Given the description of an element on the screen output the (x, y) to click on. 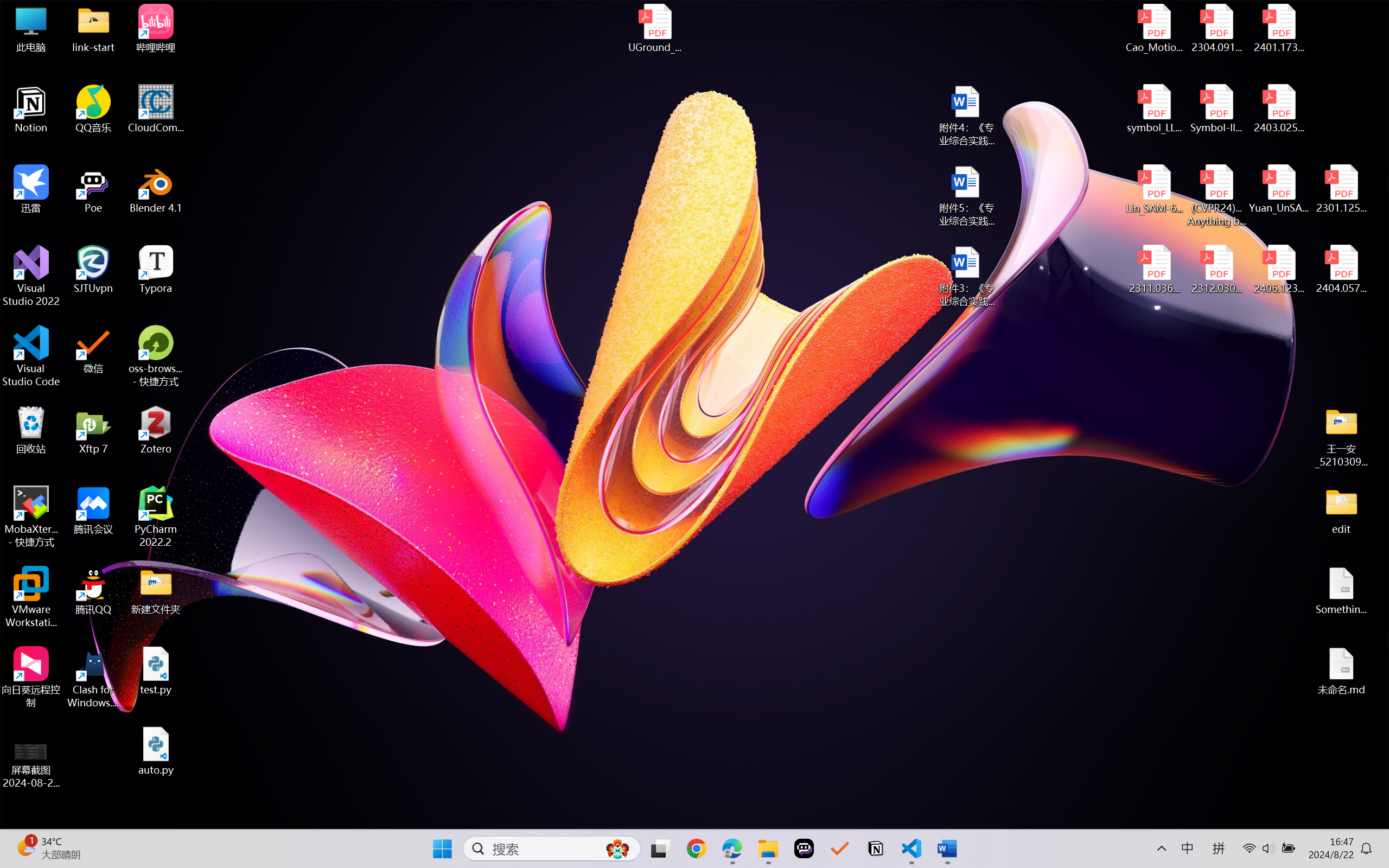
(CVPR24)Matching Anything by Segmenting Anything.pdf (1216, 195)
Something.md (1340, 591)
2403.02502v1.pdf (1278, 109)
SJTUvpn (93, 269)
Typora (156, 269)
2401.17399v1.pdf (1278, 28)
